Given the description of an element on the screen output the (x, y) to click on. 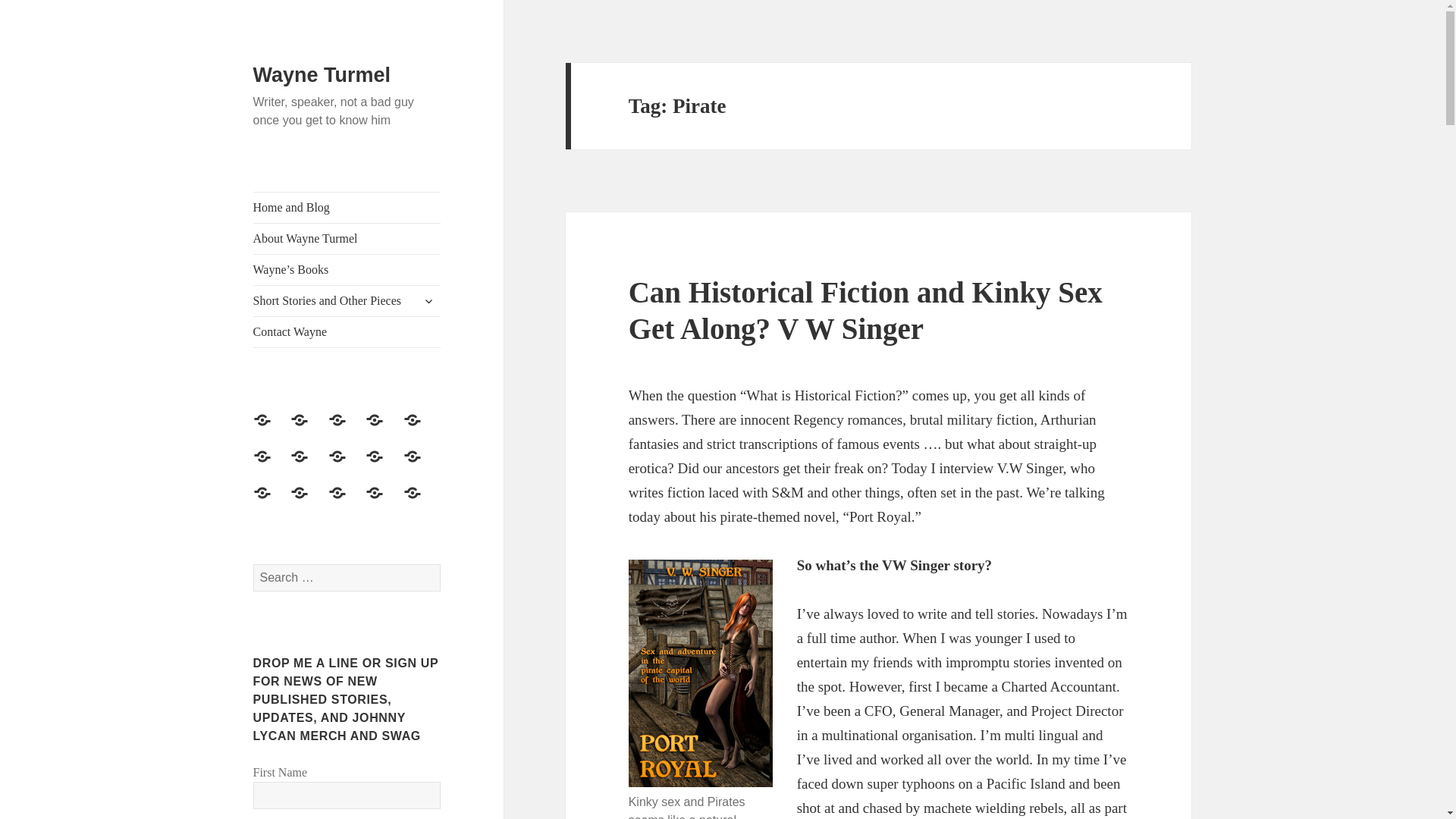
Wayne Turmel (322, 74)
Short Stories and Other Pieces (307, 465)
Short Story- The Forger of Cairo (383, 465)
Ava, Lana and Old Bob Campbell (421, 502)
Sponging- an award winning Flash Story only for subscribers (421, 465)
About Wayne Turmel (271, 429)
About Wayne Turmel (347, 238)
Flash Fiction- Stuffed Pikachus (271, 502)
expand child menu (428, 300)
A Simple Purse (421, 429)
Short Story: The Clairtangentist (271, 465)
Press and Publicity (383, 429)
Home and Blog (347, 207)
Contact Wayne (347, 429)
